Given the description of an element on the screen output the (x, y) to click on. 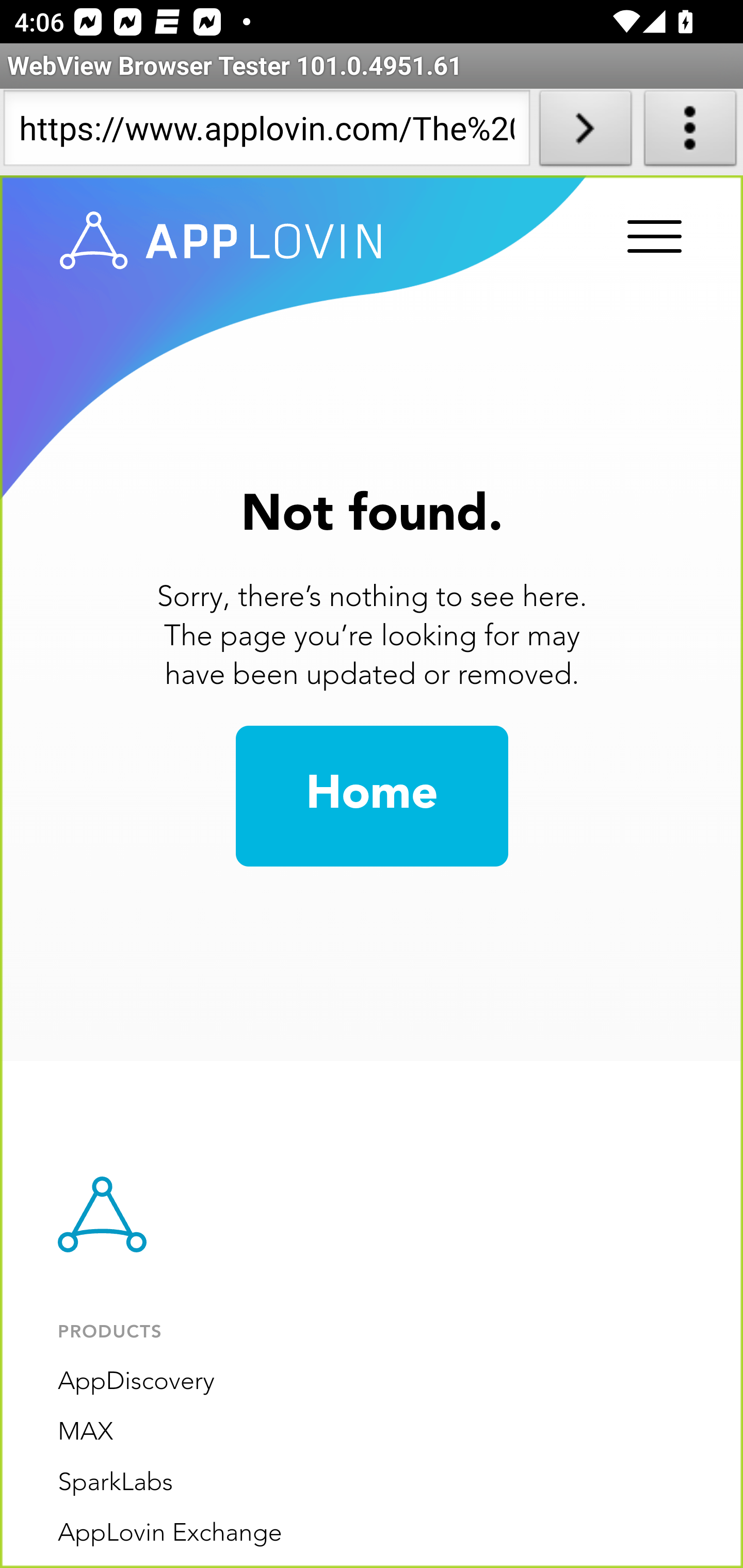
Load URL (585, 132)
About WebView (690, 132)
Menu Trigger (650, 237)
www.applovin (220, 241)
Home (371, 796)
AppDiscovery (135, 1381)
MAX (85, 1432)
SparkLabs (115, 1483)
AppLovin Exchange (170, 1533)
